Given the description of an element on the screen output the (x, y) to click on. 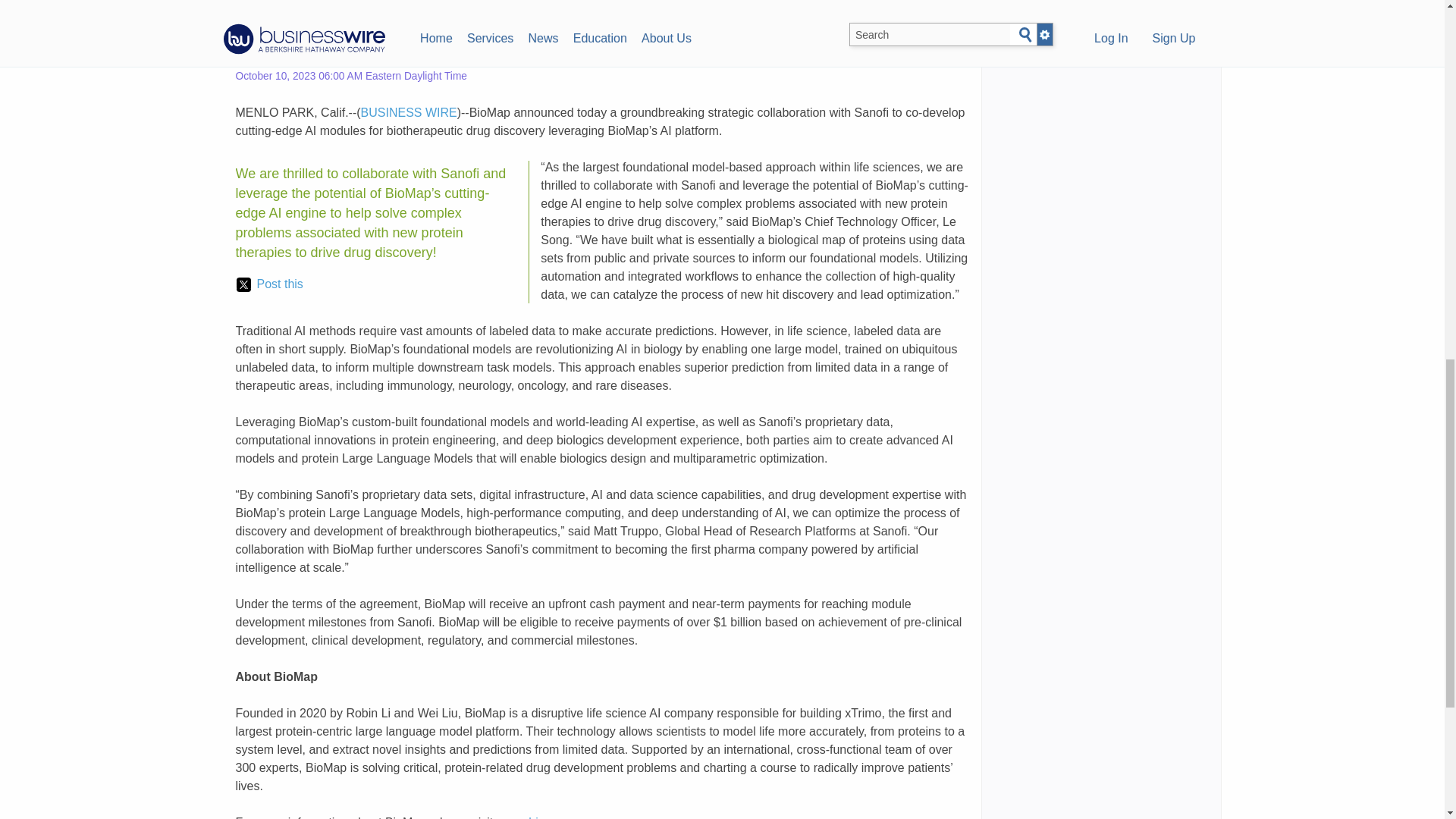
Post this (269, 283)
BUSINESS WIRE (409, 112)
www.biomap.com (546, 817)
